Given the description of an element on the screen output the (x, y) to click on. 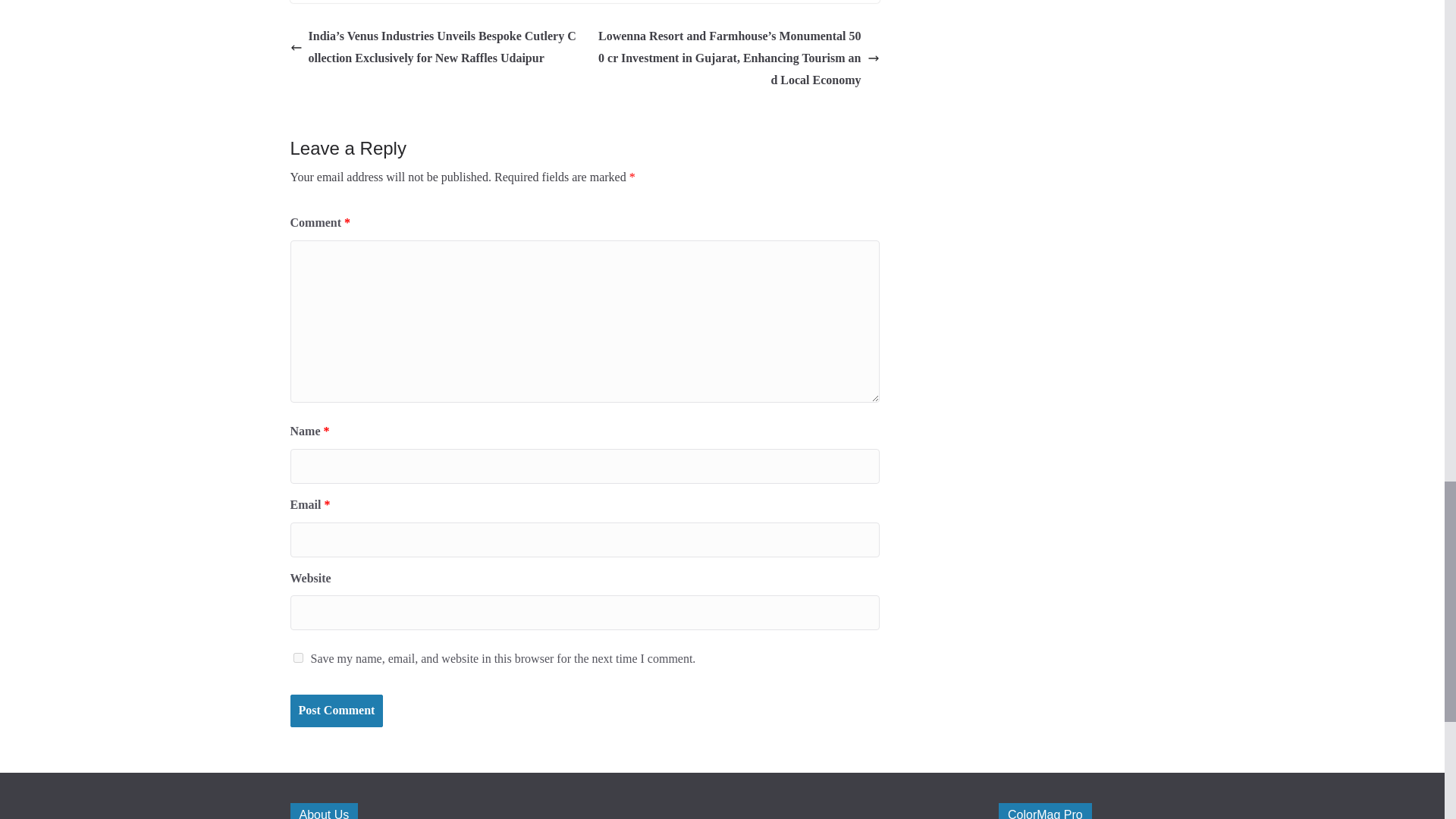
Post Comment (335, 710)
Post Comment (335, 710)
yes (297, 657)
